Given the description of an element on the screen output the (x, y) to click on. 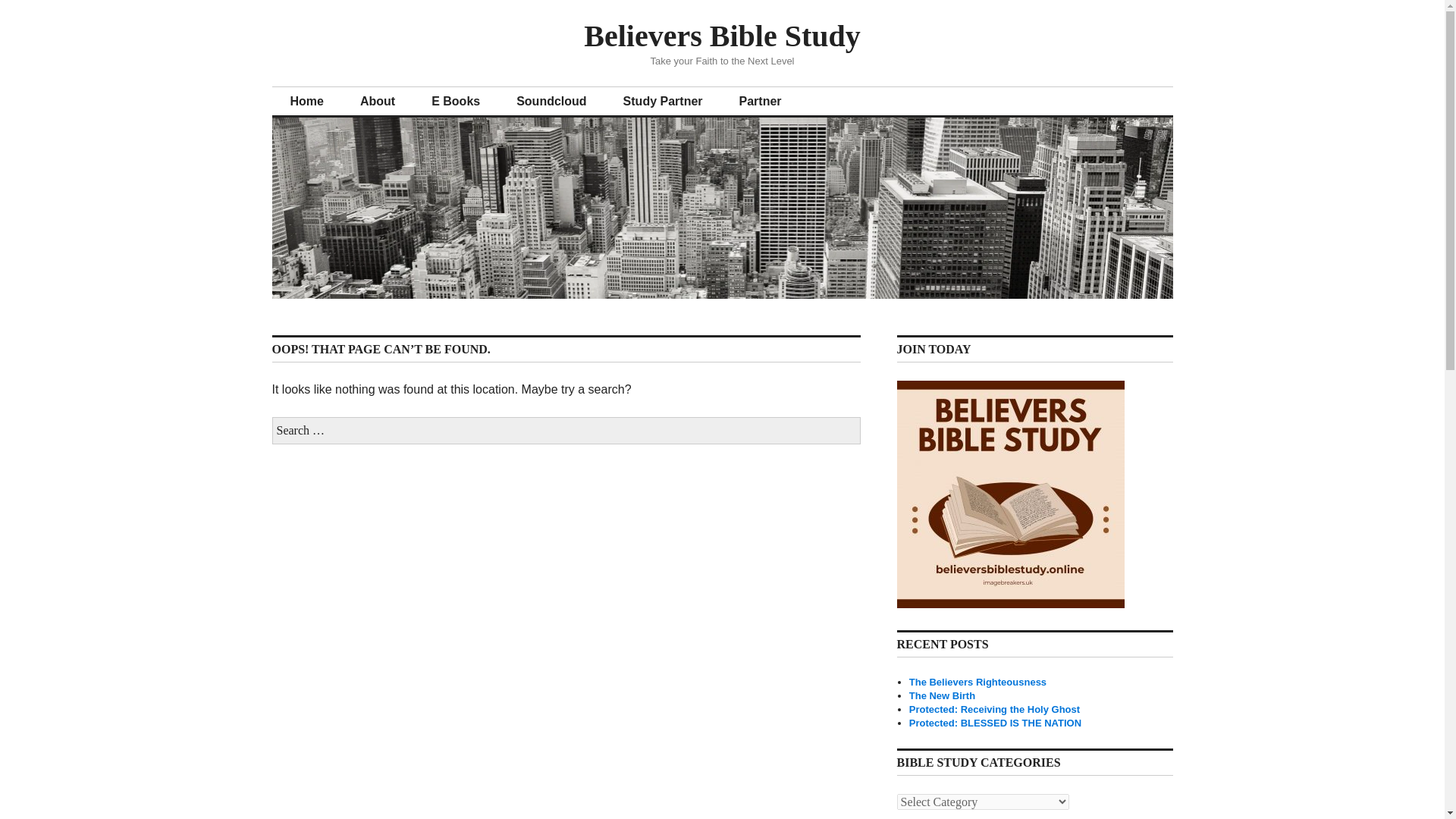
The Believers Righteousness (977, 681)
Study Partner (662, 101)
Protected: Receiving the Holy Ghost (994, 708)
Soundcloud (550, 101)
Search (8, 4)
Partner (759, 101)
Believers Bible Study (721, 35)
Home (305, 101)
The New Birth (941, 695)
